Given the description of an element on the screen output the (x, y) to click on. 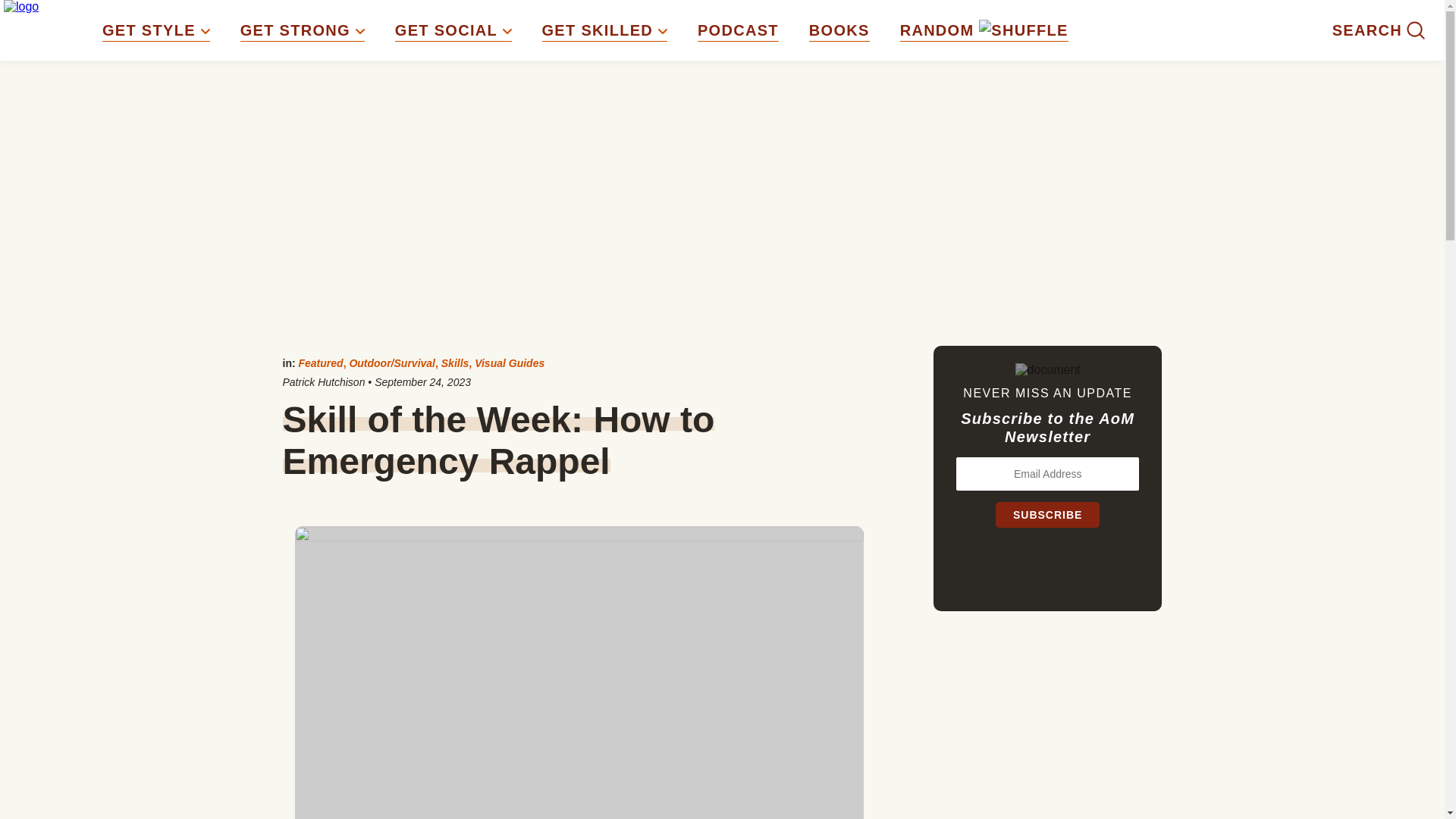
GET STYLE (155, 30)
GET STRONG (302, 30)
BOOKS (839, 30)
RANDOM (983, 30)
GET SOCIAL (453, 30)
Subscribe (1047, 514)
GET SKILLED (603, 30)
PODCAST (737, 30)
